Given the description of an element on the screen output the (x, y) to click on. 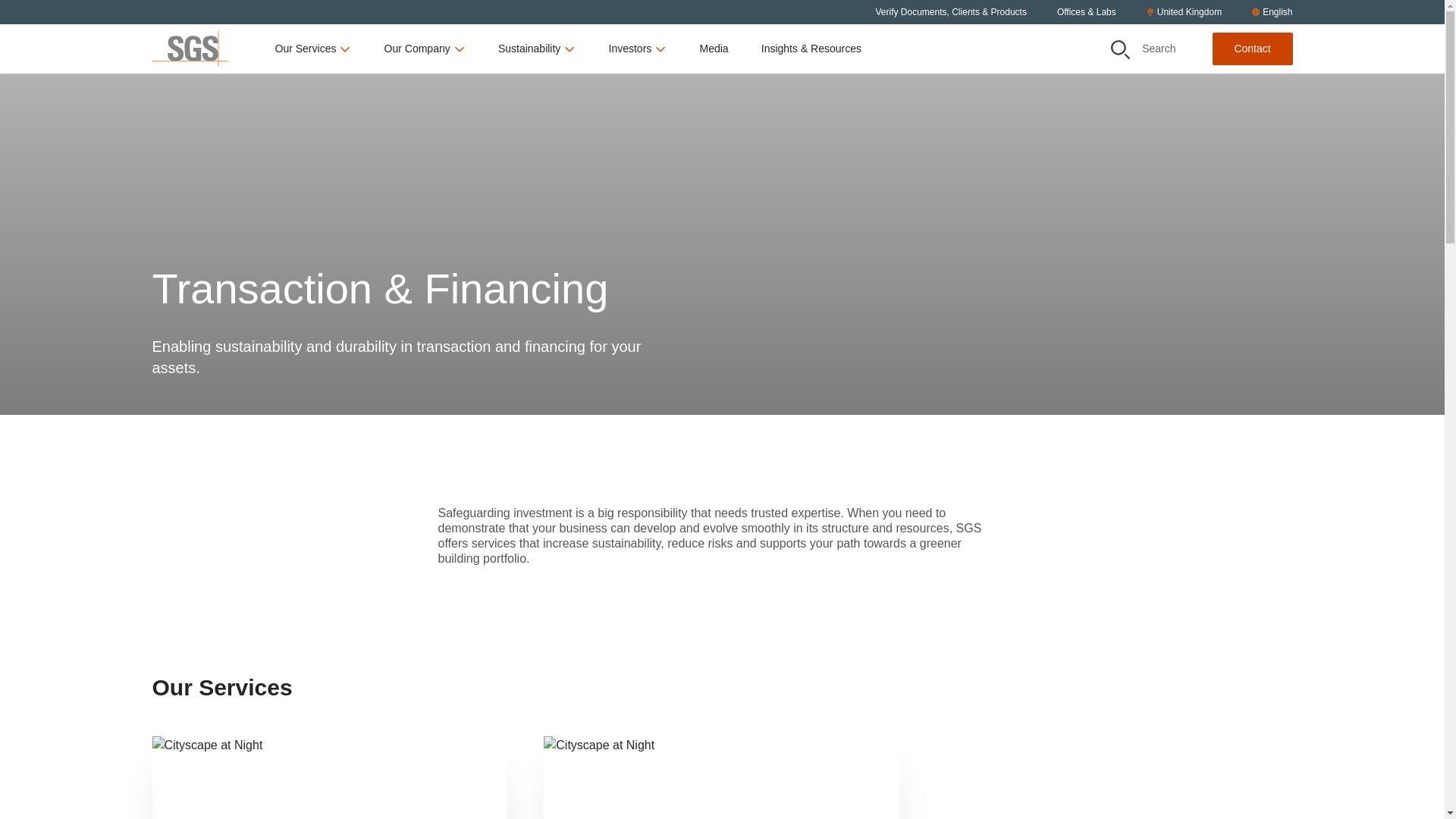
Contact (1251, 48)
SGS (189, 48)
Search (1119, 49)
Our Company (424, 48)
Technical Due Diligence (721, 777)
Search (1143, 48)
United Kingdom (1184, 12)
Investors (637, 48)
Sustainability (536, 48)
Our Services (313, 48)
Energy and Green Building (328, 777)
Media (713, 48)
